Given the description of an element on the screen output the (x, y) to click on. 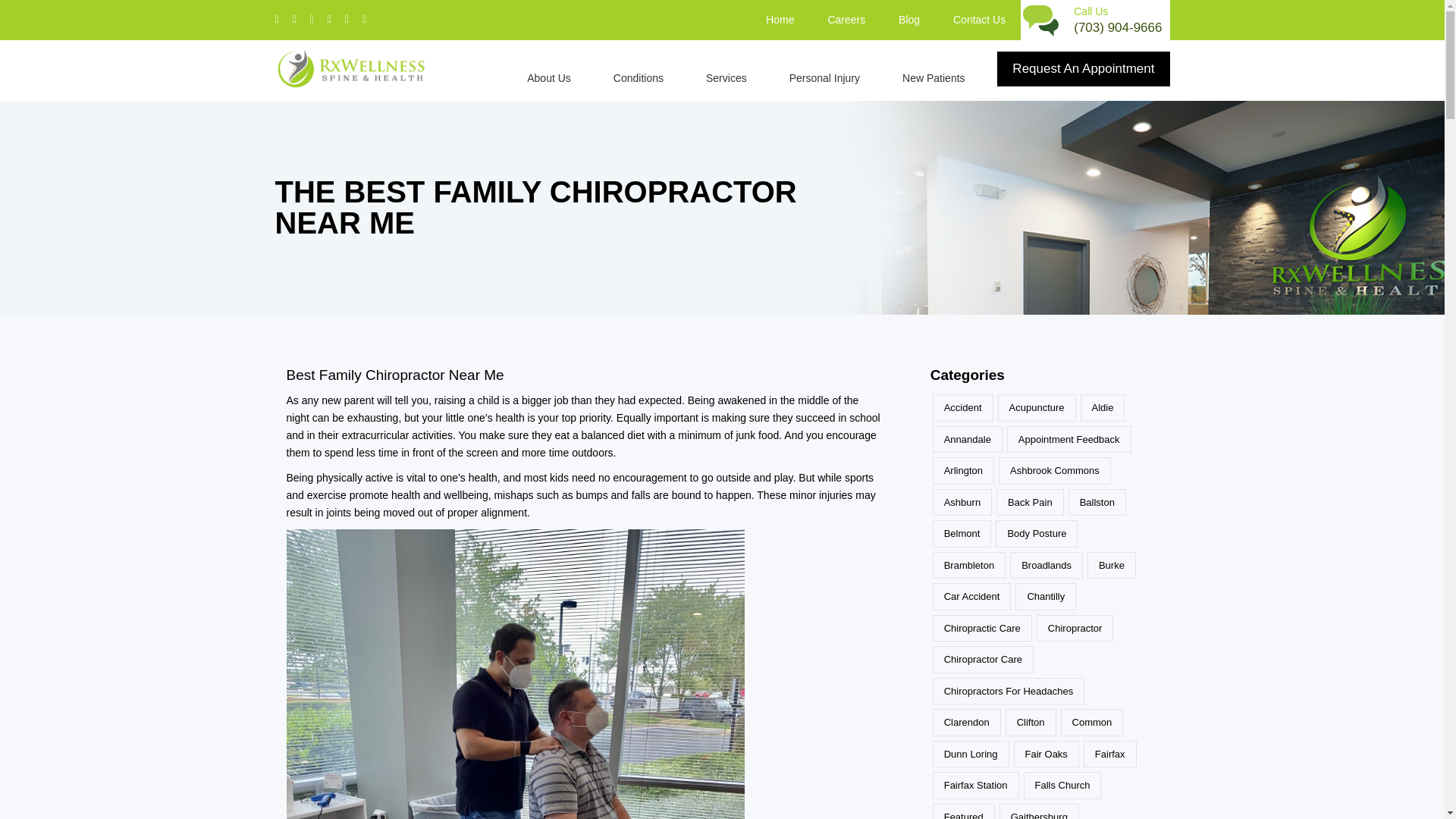
Request An Appointment (1083, 68)
Careers (846, 19)
About Us (551, 70)
Conditions (640, 70)
Request An Appointment (1083, 68)
Home (780, 19)
Blog (908, 19)
Contact Us (978, 19)
